Given the description of an element on the screen output the (x, y) to click on. 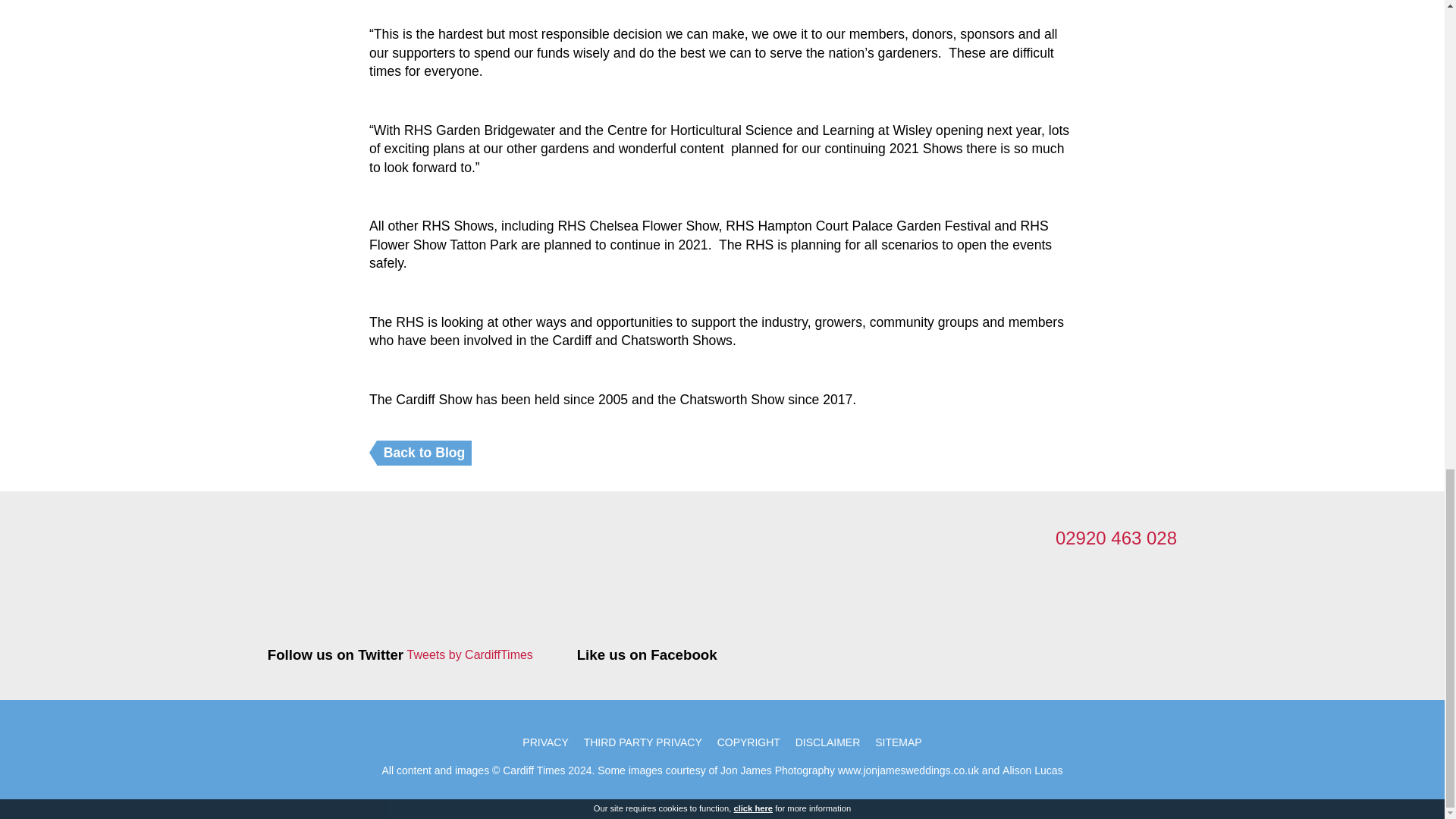
THIRD PARTY PRIVACY (642, 742)
Back to Blog (424, 453)
PRIVACY (544, 742)
DISCLAIMER (827, 742)
Tweets by CardiffTimes (469, 655)
Jon James Photography (777, 770)
02920 463 028 (1115, 537)
SITEMAP (898, 742)
COPYRIGHT (748, 742)
www.jonjamesweddings.co.uk (908, 770)
